Given the description of an element on the screen output the (x, y) to click on. 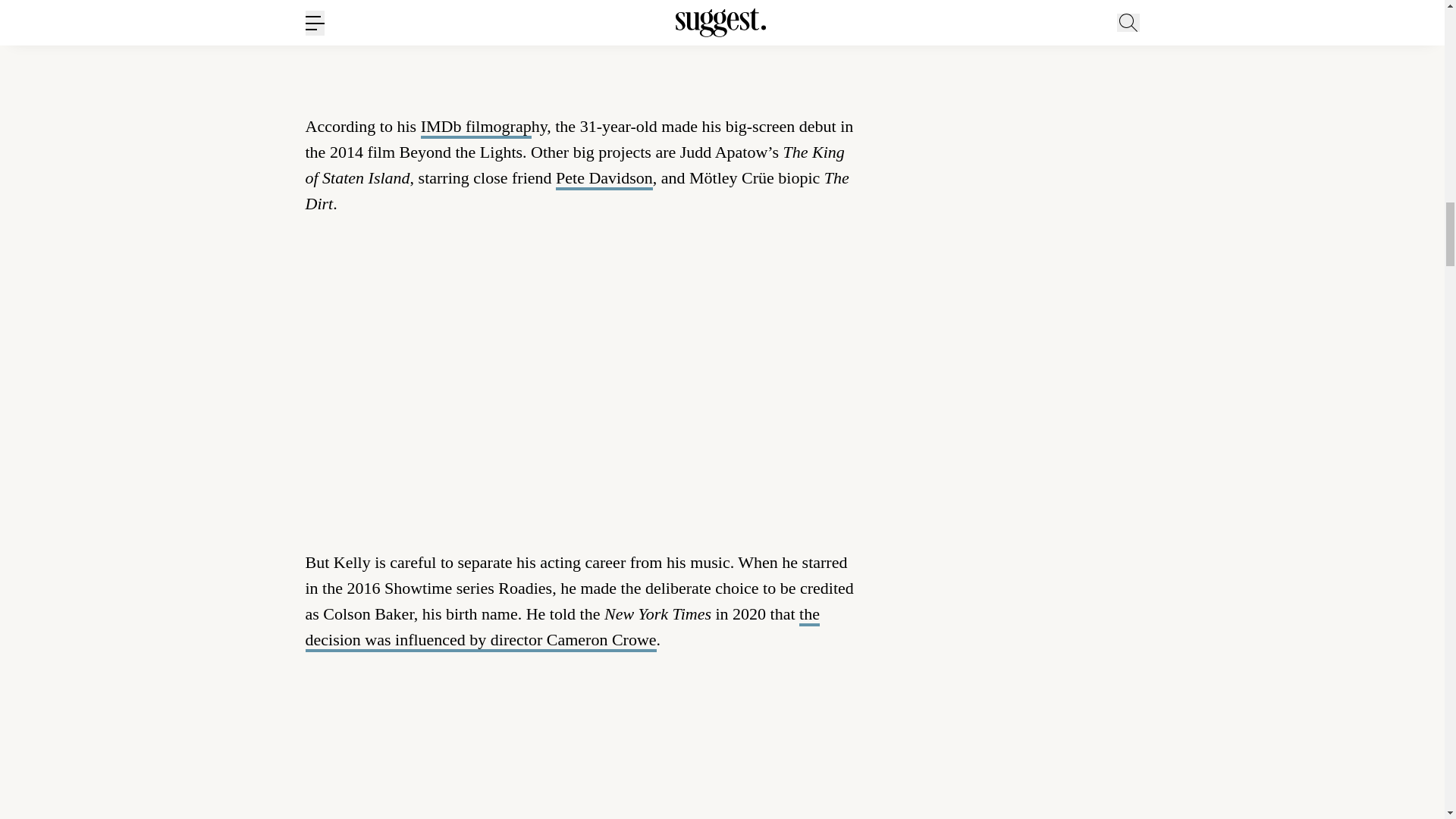
Pete Davidson (604, 179)
the decision was influenced by director Cameron Crowe (561, 627)
IMDb filmograp (475, 127)
